Given the description of an element on the screen output the (x, y) to click on. 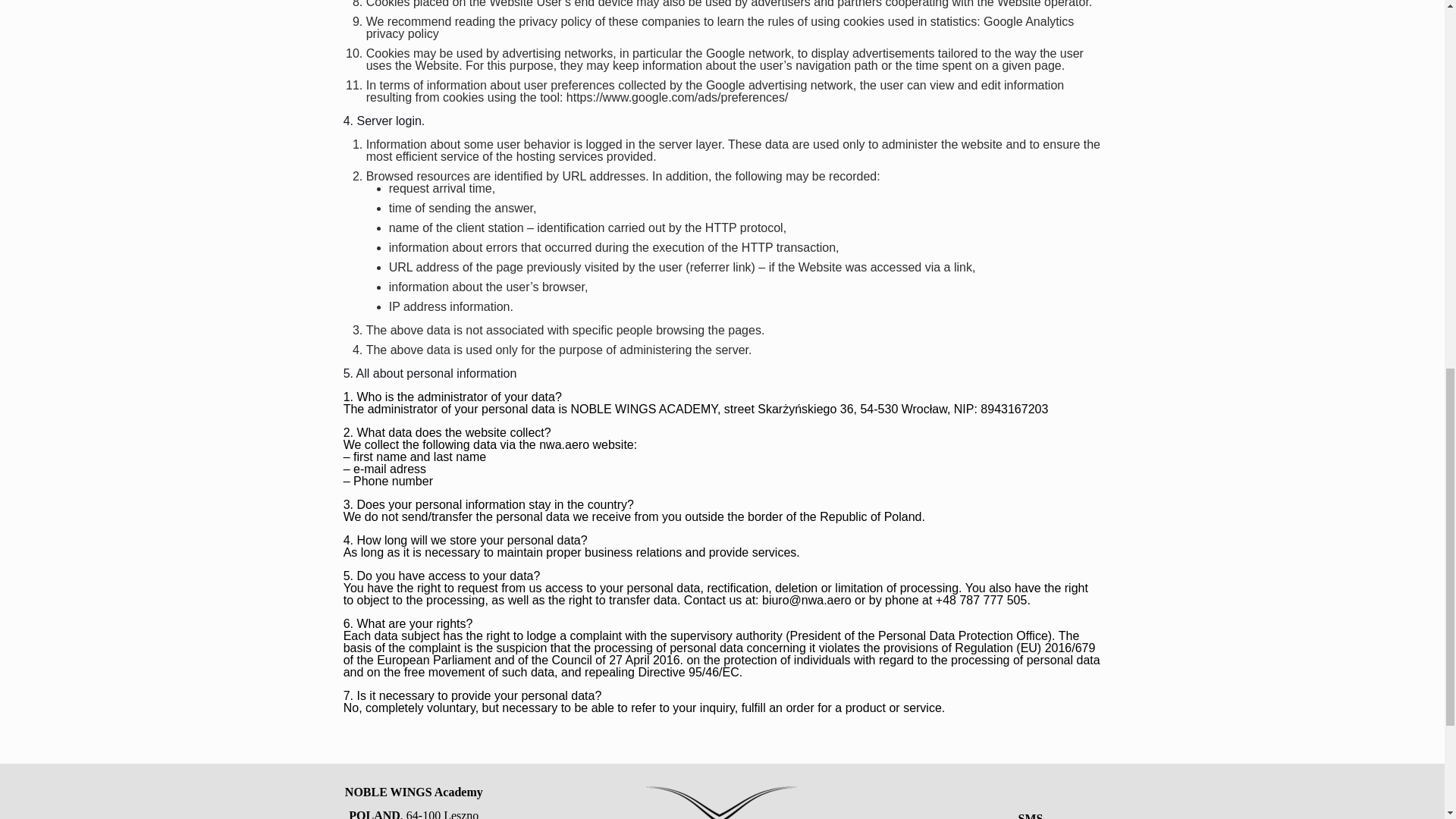
SMS (1030, 815)
Google Analytics privacy policy (720, 27)
